Given the description of an element on the screen output the (x, y) to click on. 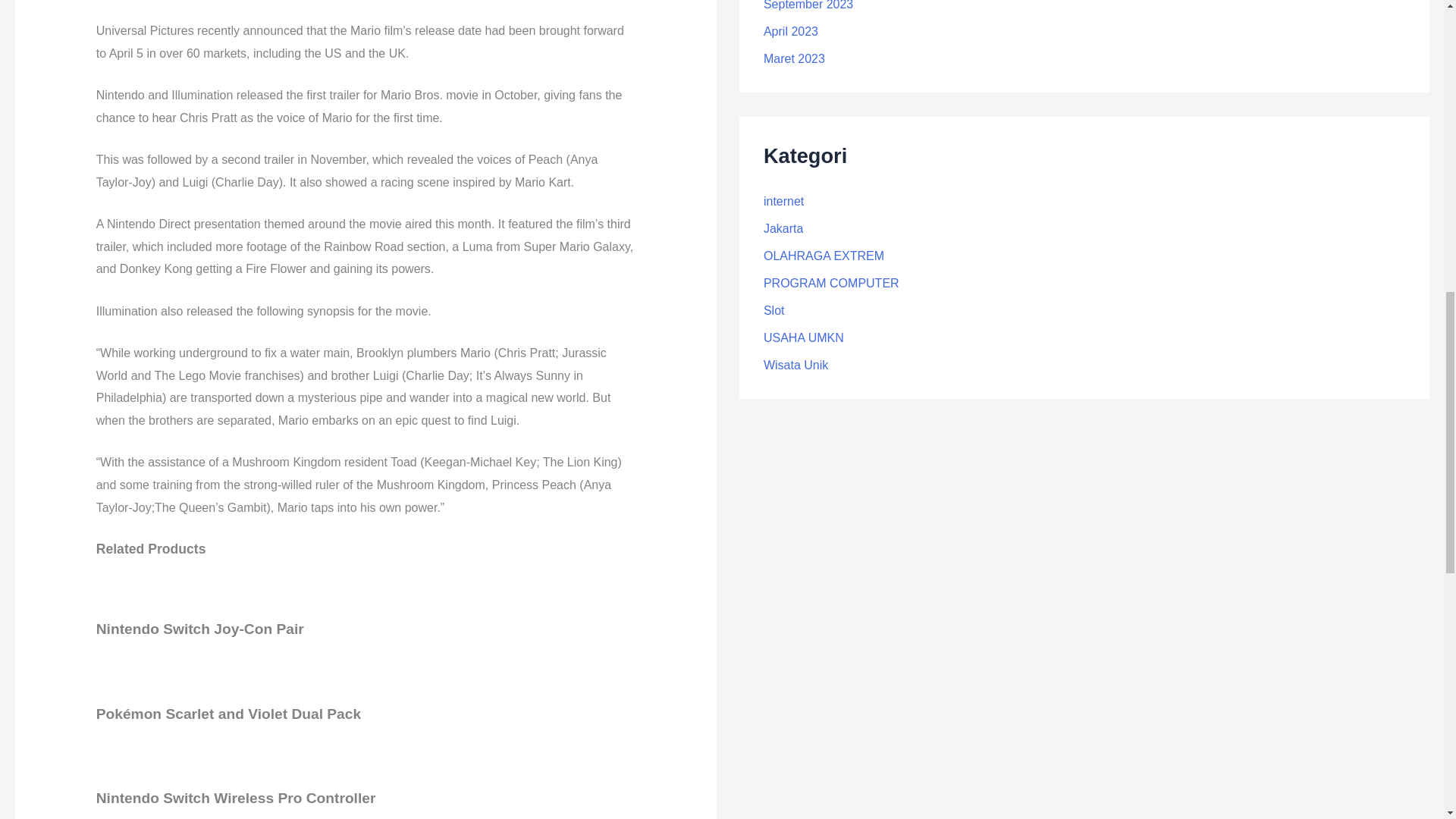
Jakarta (782, 228)
April 2023 (790, 31)
Maret 2023 (793, 58)
Slot (773, 309)
USAHA UMKN (803, 337)
Wisata Unik (795, 364)
PROGRAM COMPUTER (830, 282)
September 2023 (807, 5)
OLAHRAGA EXTREM (822, 255)
internet (782, 201)
